Given the description of an element on the screen output the (x, y) to click on. 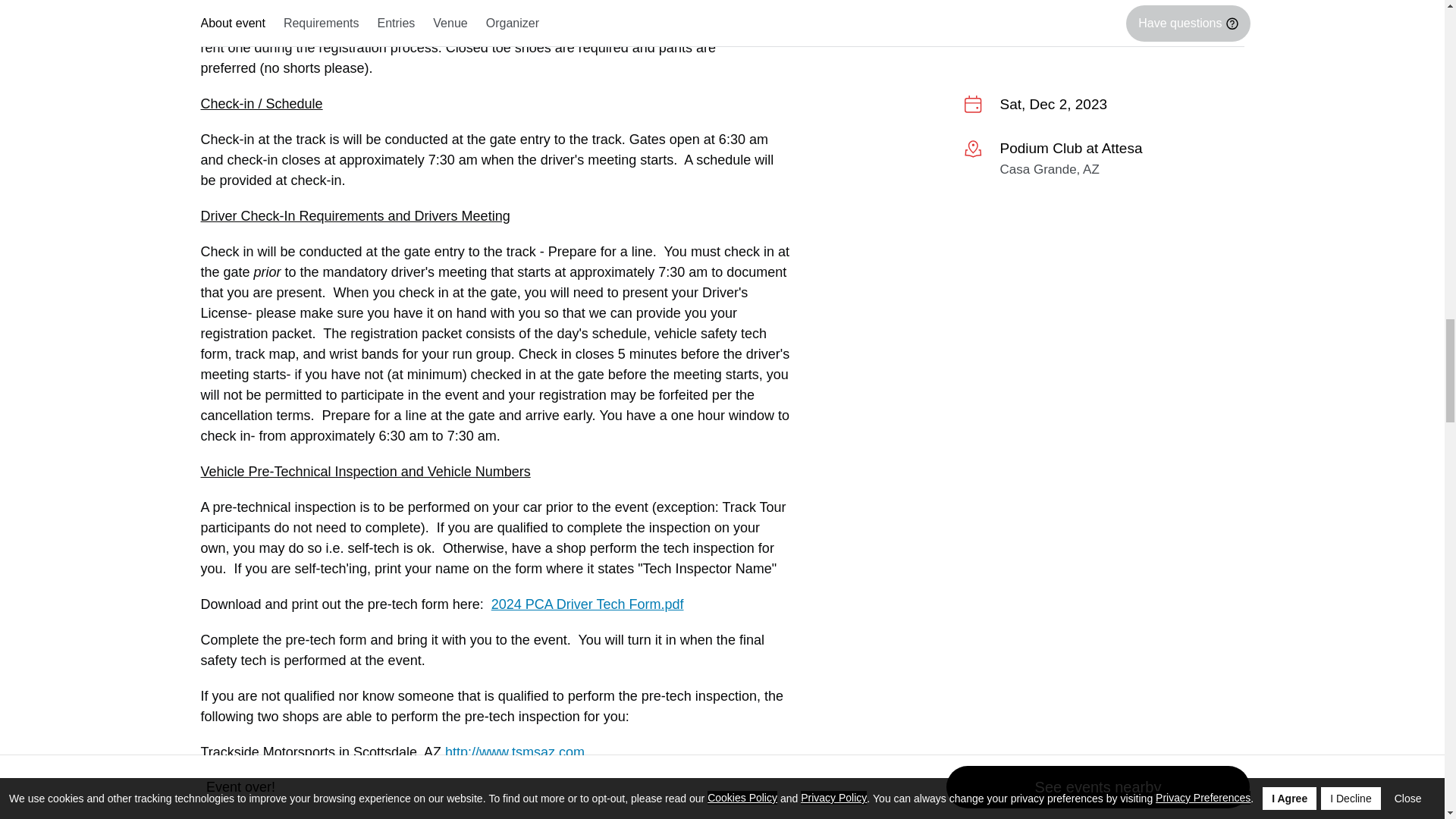
2024 PCA Driver Tech Form.pdf (588, 604)
